Given the description of an element on the screen output the (x, y) to click on. 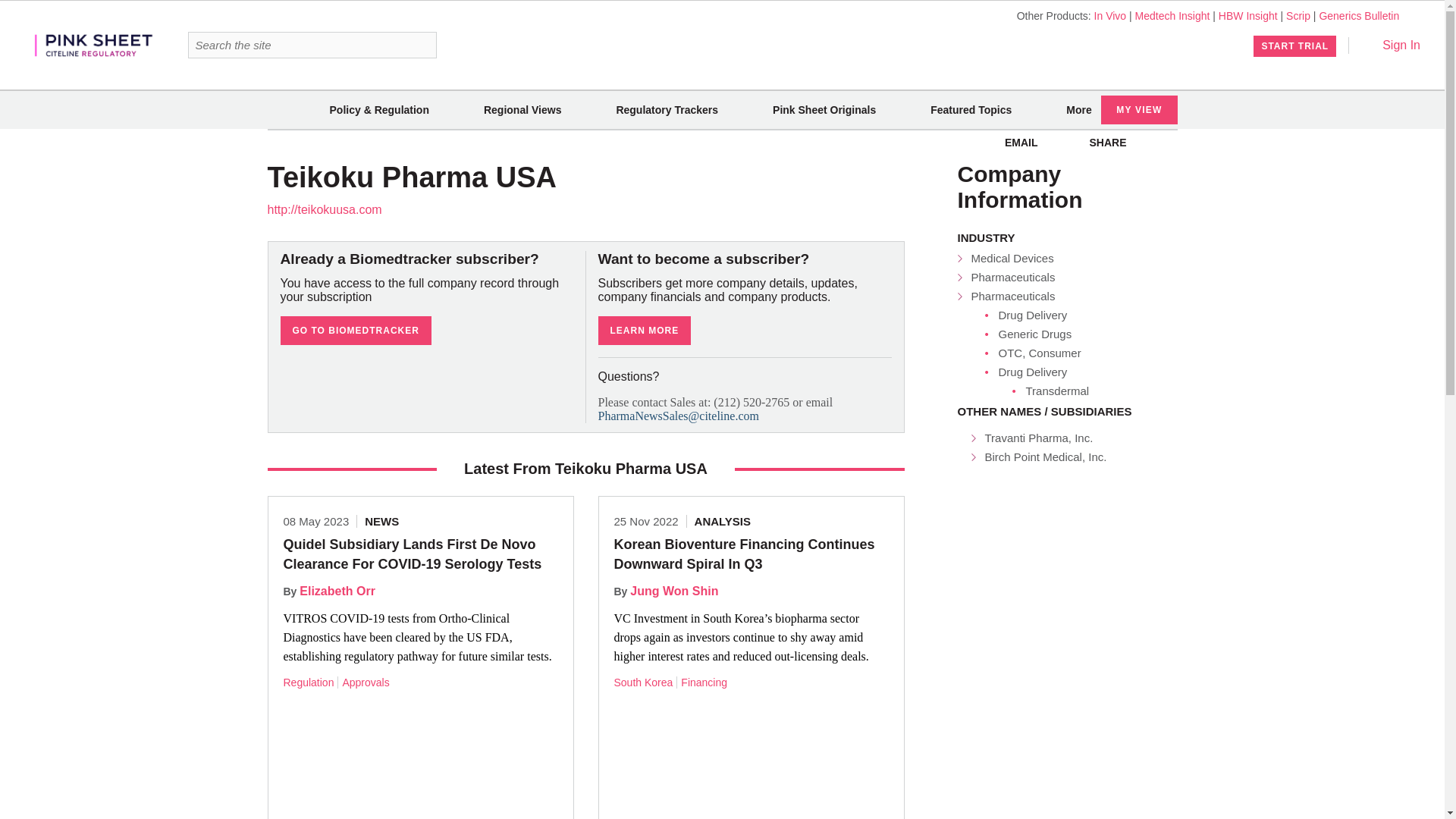
Sign In (1391, 44)
START TRIAL (1294, 46)
In Vivo (1110, 15)
Medtech Insight (1172, 15)
HBW Insight (1248, 15)
Generics Bulletin (1359, 15)
Scrip (1297, 15)
